Given the description of an element on the screen output the (x, y) to click on. 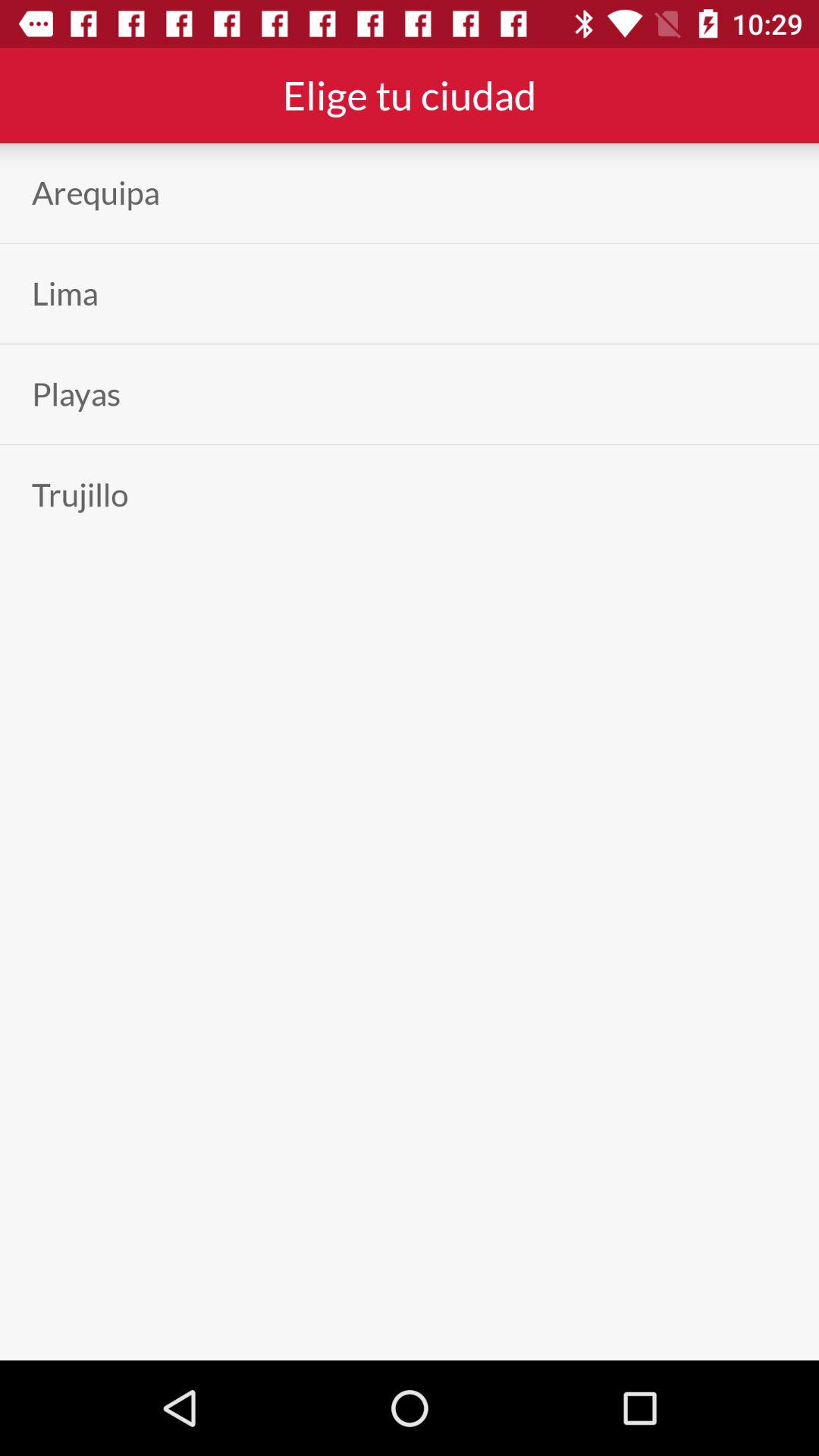
swipe to playas item (75, 394)
